Given the description of an element on the screen output the (x, y) to click on. 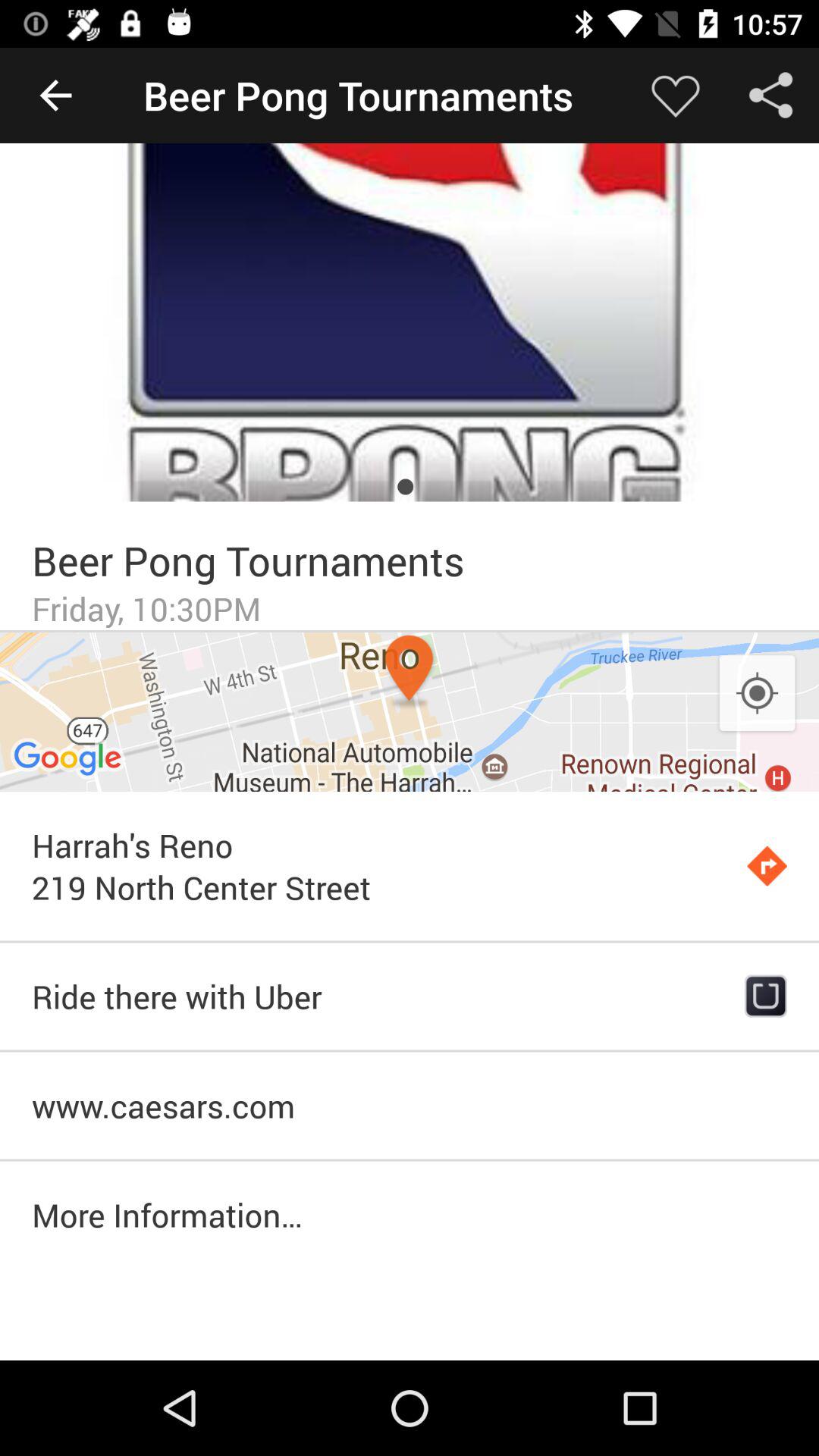
launch the icon to the right of beer pong tournaments (675, 95)
